Given the description of an element on the screen output the (x, y) to click on. 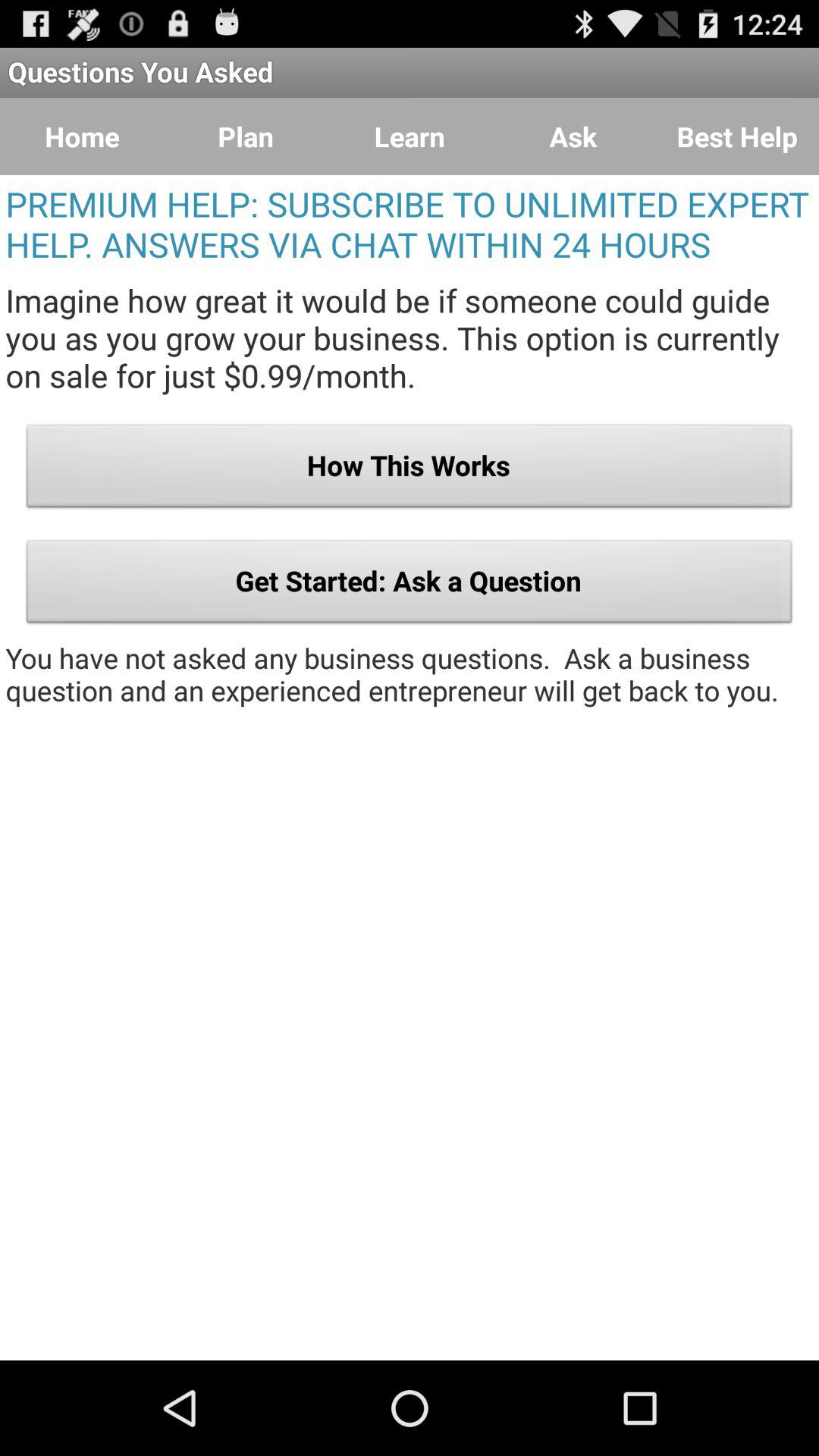
tap item to the right of ask icon (737, 136)
